Given the description of an element on the screen output the (x, y) to click on. 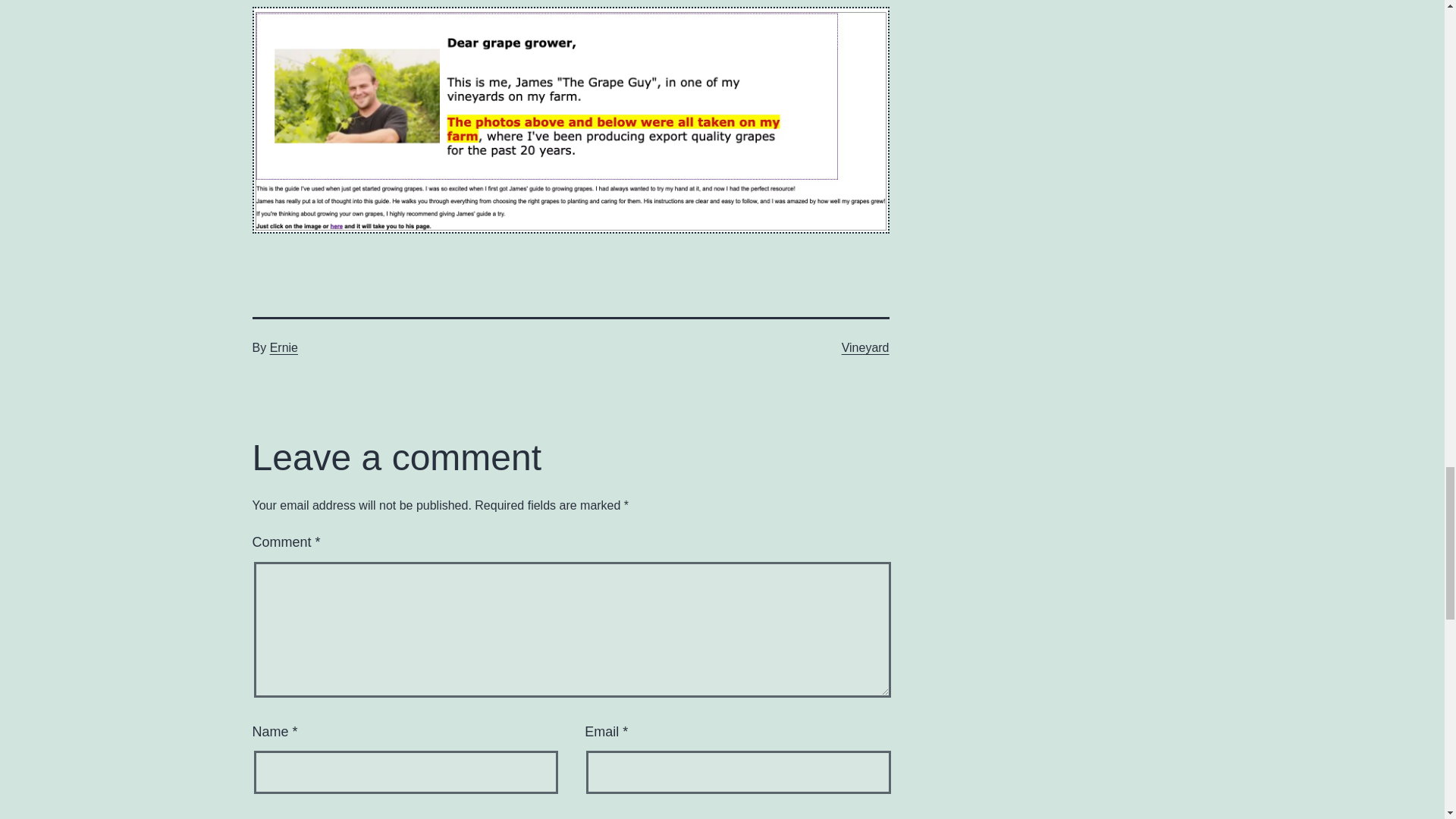
Vineyard (865, 347)
Ernie (283, 347)
James guide (569, 118)
